Given the description of an element on the screen output the (x, y) to click on. 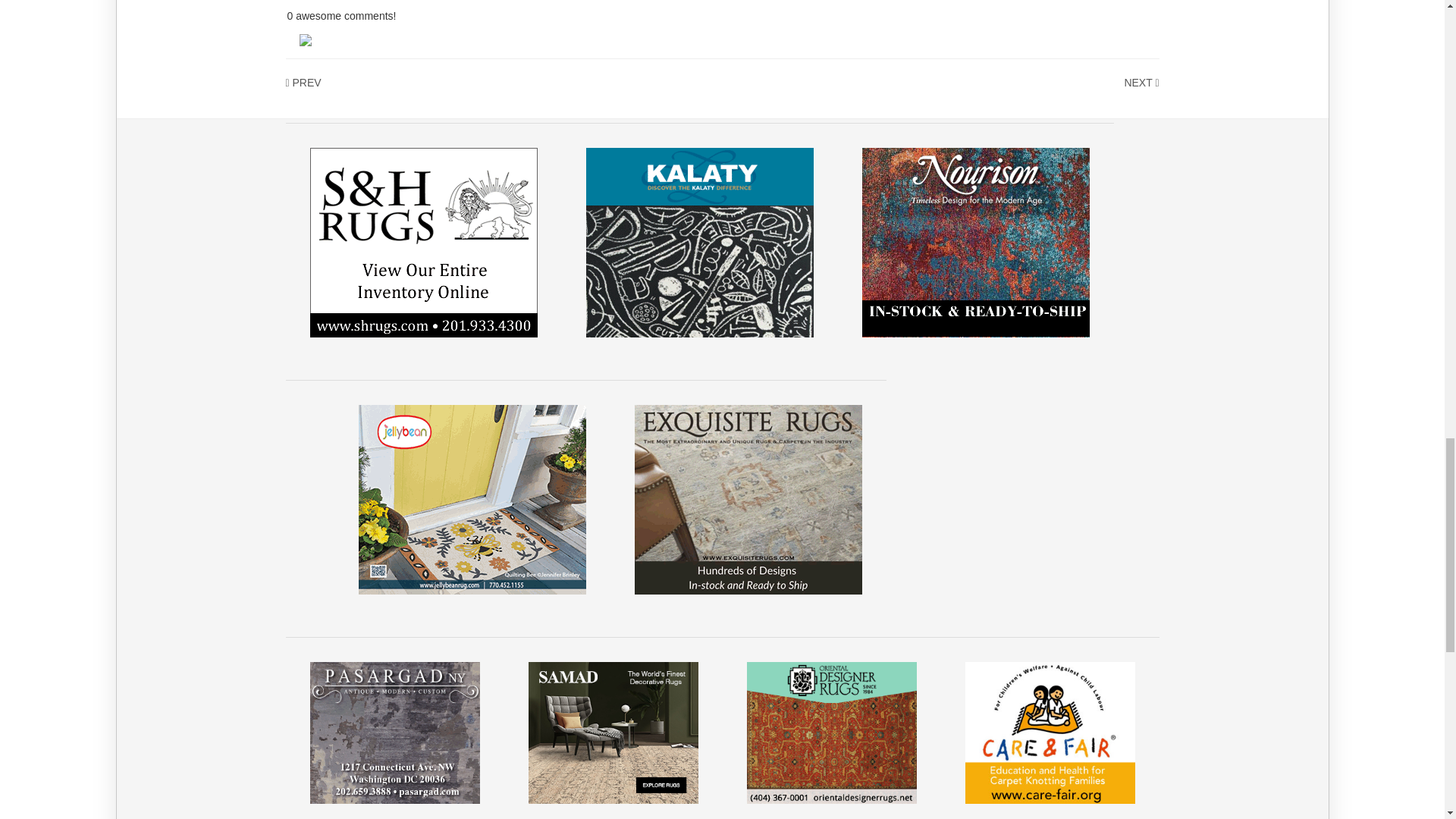
Nourison (975, 241)
Jelly Bean Rugs Homefires (471, 499)
Exquisite Rugs (747, 499)
SH Rugs 2023 (422, 241)
Kalaty Summer Vegas 2024 (698, 241)
